Given the description of an element on the screen output the (x, y) to click on. 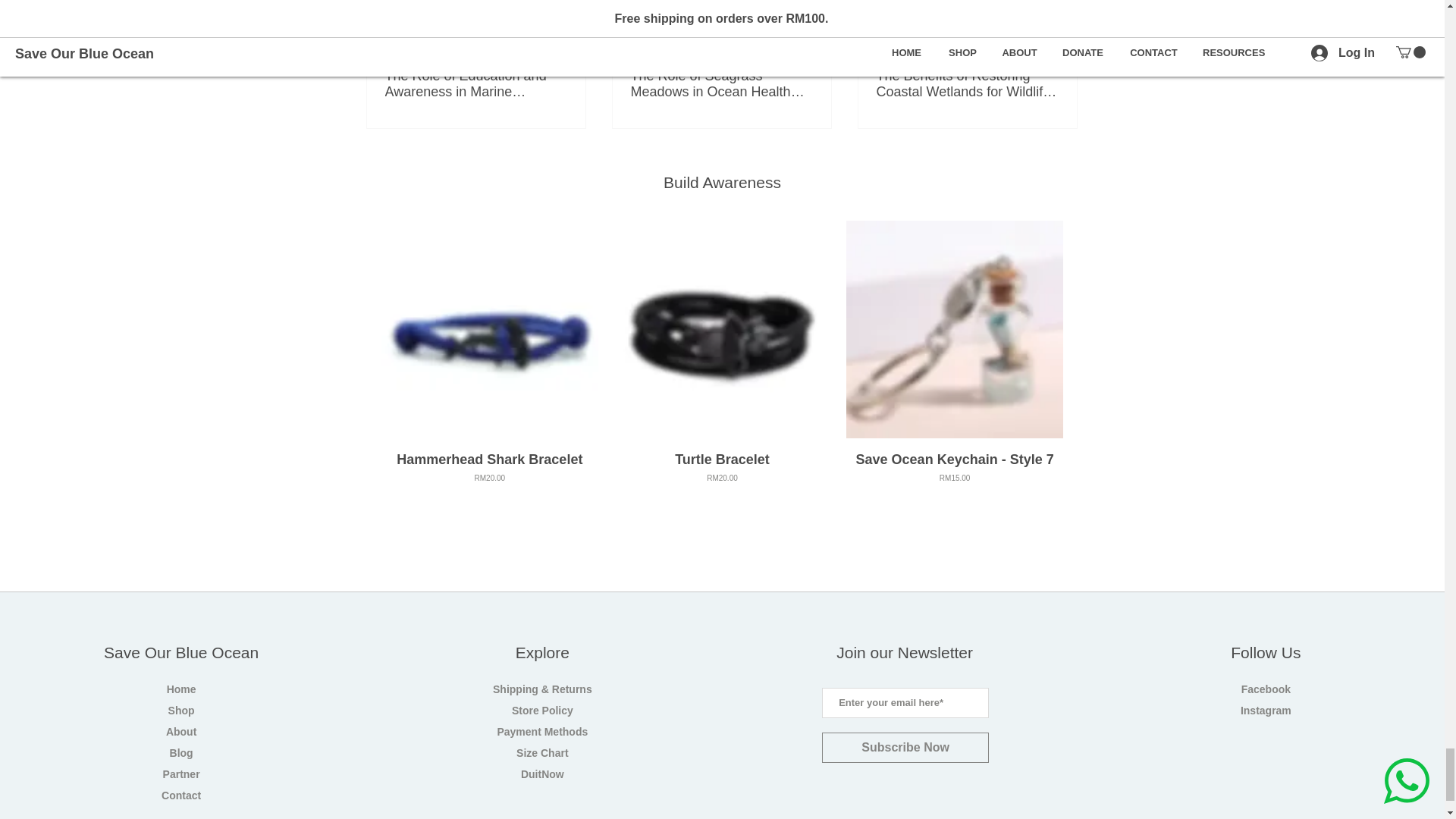
The Role of Education and Awareness in Marine Conservation (954, 476)
